Given the description of an element on the screen output the (x, y) to click on. 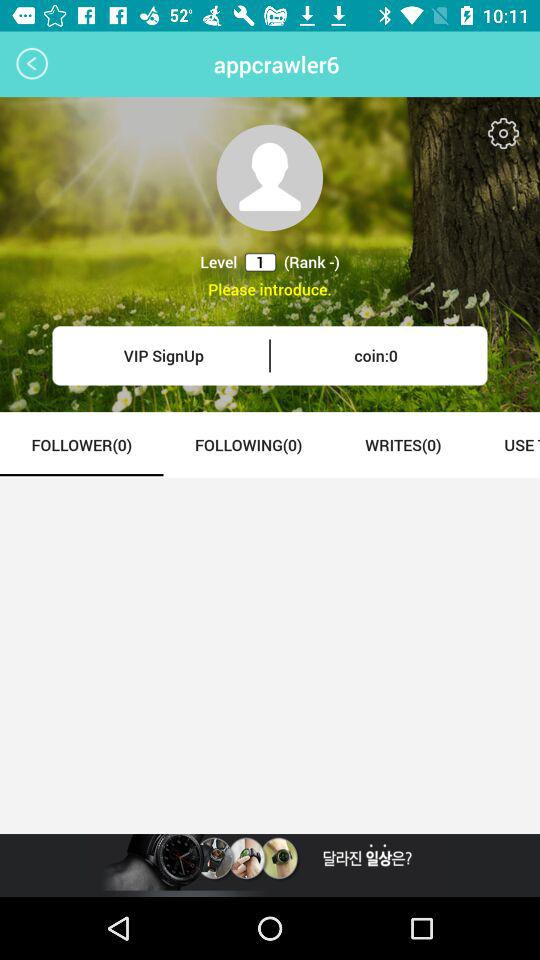
open item next to the writes(0) icon (506, 444)
